Given the description of an element on the screen output the (x, y) to click on. 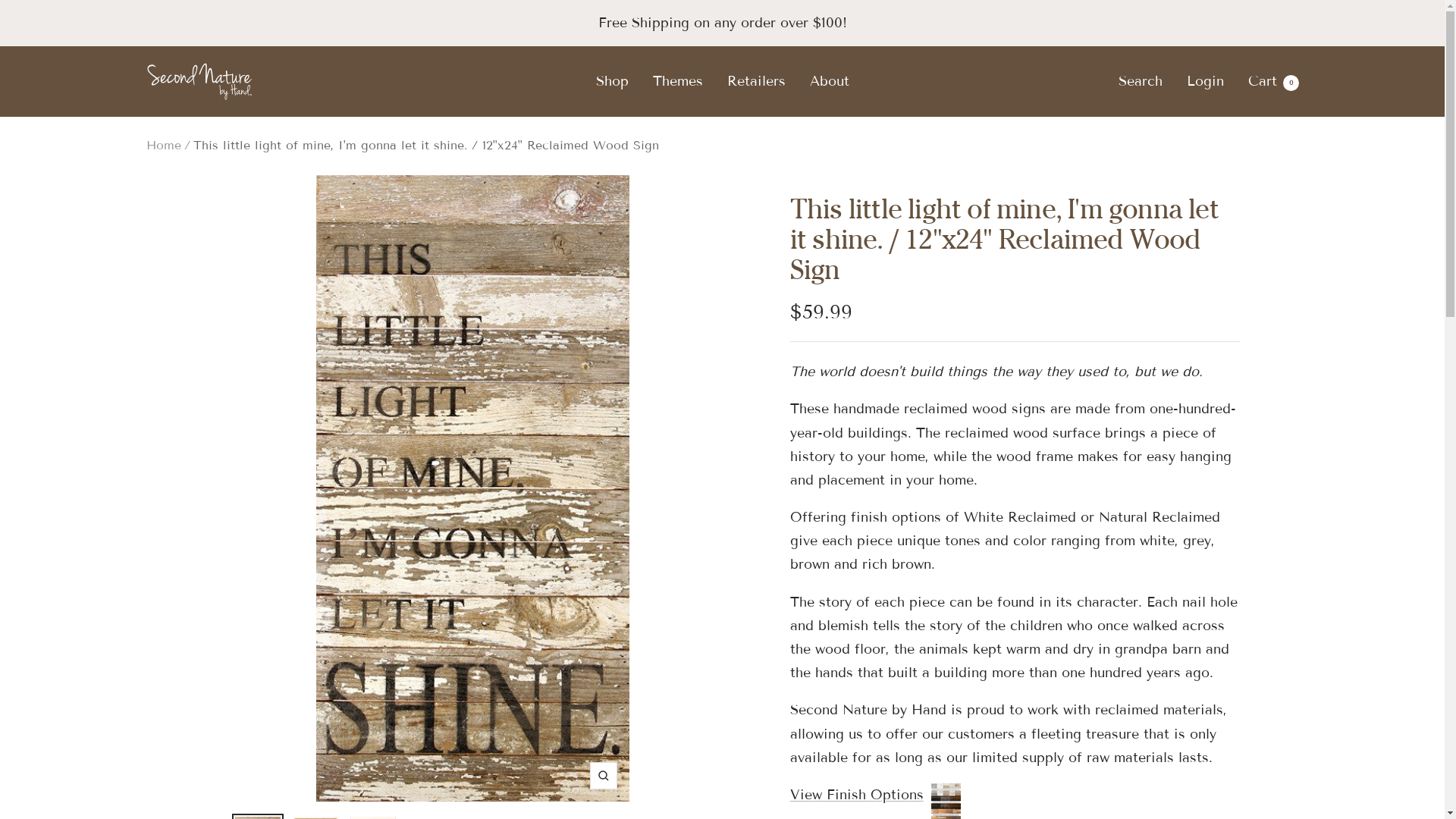
Themes Element type: text (677, 81)
ES - Espresso Brown with Cream Print Element type: text (1051, 57)
Home Element type: text (162, 145)
WR - White Reclaimed with Black Print Element type: text (1051, 129)
About Element type: text (829, 81)
Login Element type: text (1204, 80)
View Finish Options Element type: text (875, 794)
Zoom Element type: text (603, 775)
Second Nature by Hand (R) Element type: text (198, 81)
Retailers Element type: text (755, 81)
Shop Element type: text (612, 81)
NR - Natural Reclaimed with Black Print Element type: text (1051, 93)
Cart
0 Element type: text (1273, 80)
Search Element type: text (1139, 80)
